Given the description of an element on the screen output the (x, y) to click on. 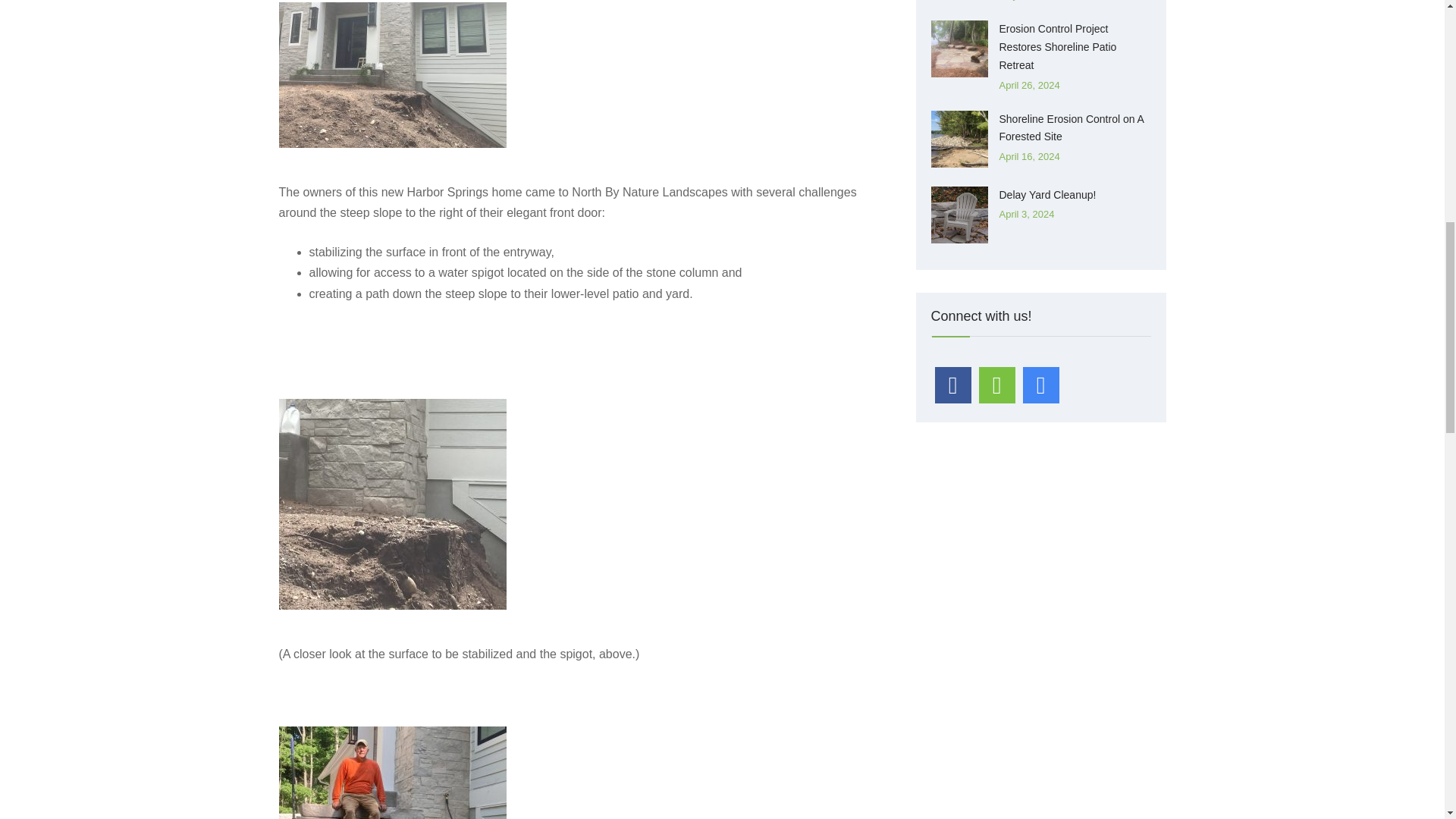
Google Reviews (1040, 384)
Houzz (996, 384)
Facebook (952, 384)
